Given the description of an element on the screen output the (x, y) to click on. 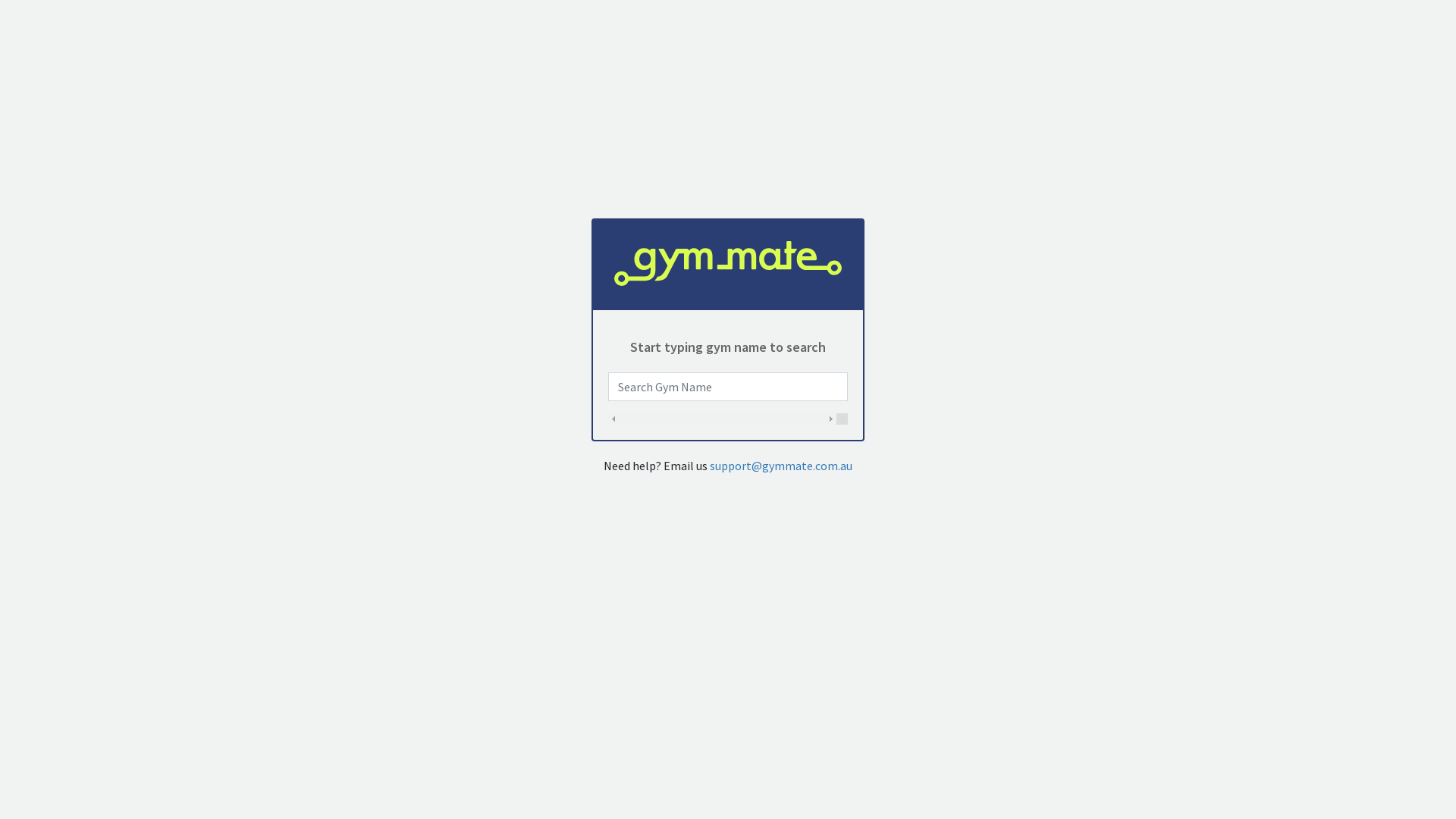
support@gymmate.com.au Element type: text (780, 465)
